Given the description of an element on the screen output the (x, y) to click on. 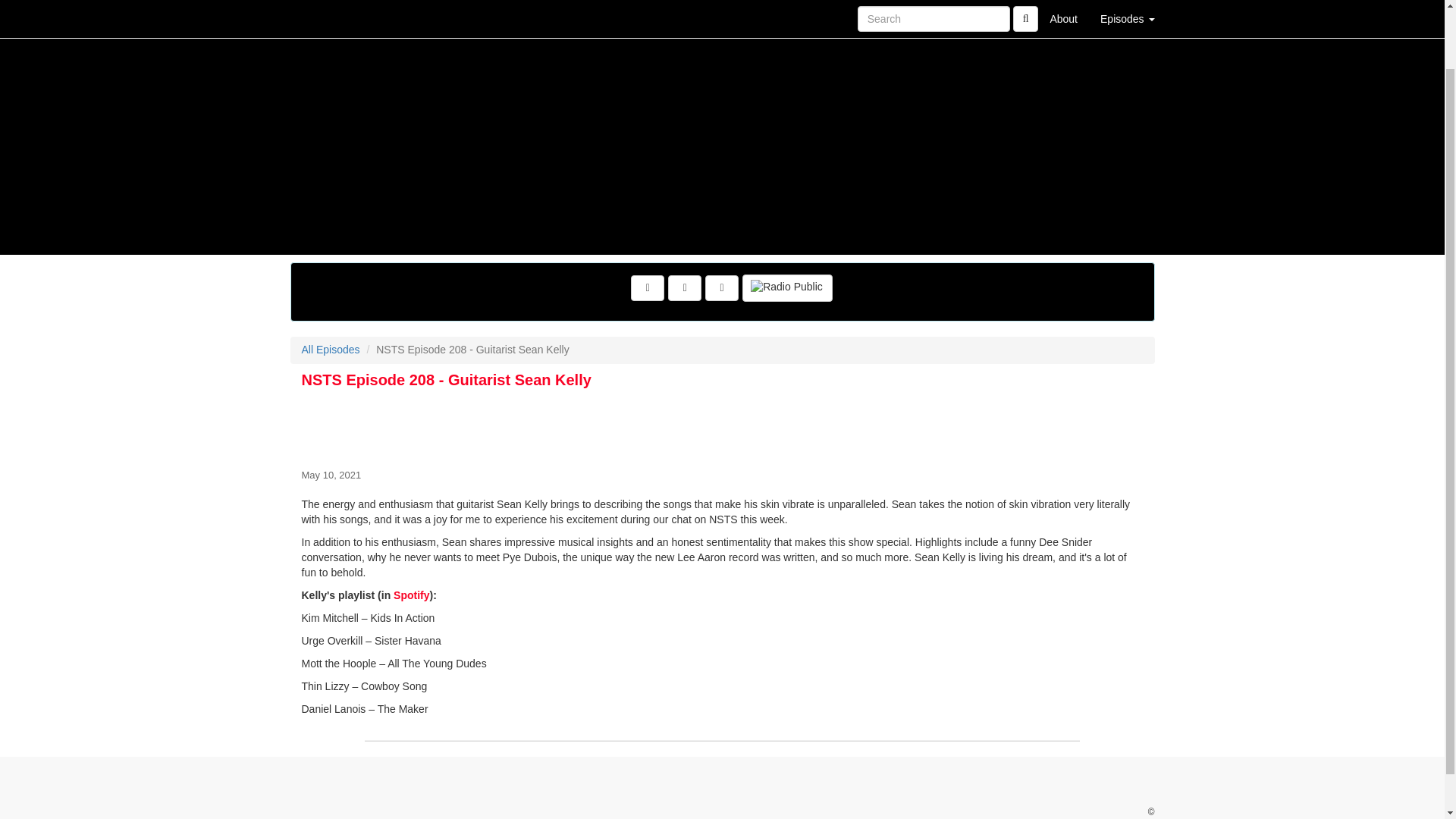
Subscribe to RSS Feed (721, 288)
Visit Us on Twitter (684, 288)
Visit Us on Facebook (646, 288)
Listen on Radio Public (787, 288)
NSTS Episode 208 - Guitarist Sean Kelly (721, 426)
